Given the description of an element on the screen output the (x, y) to click on. 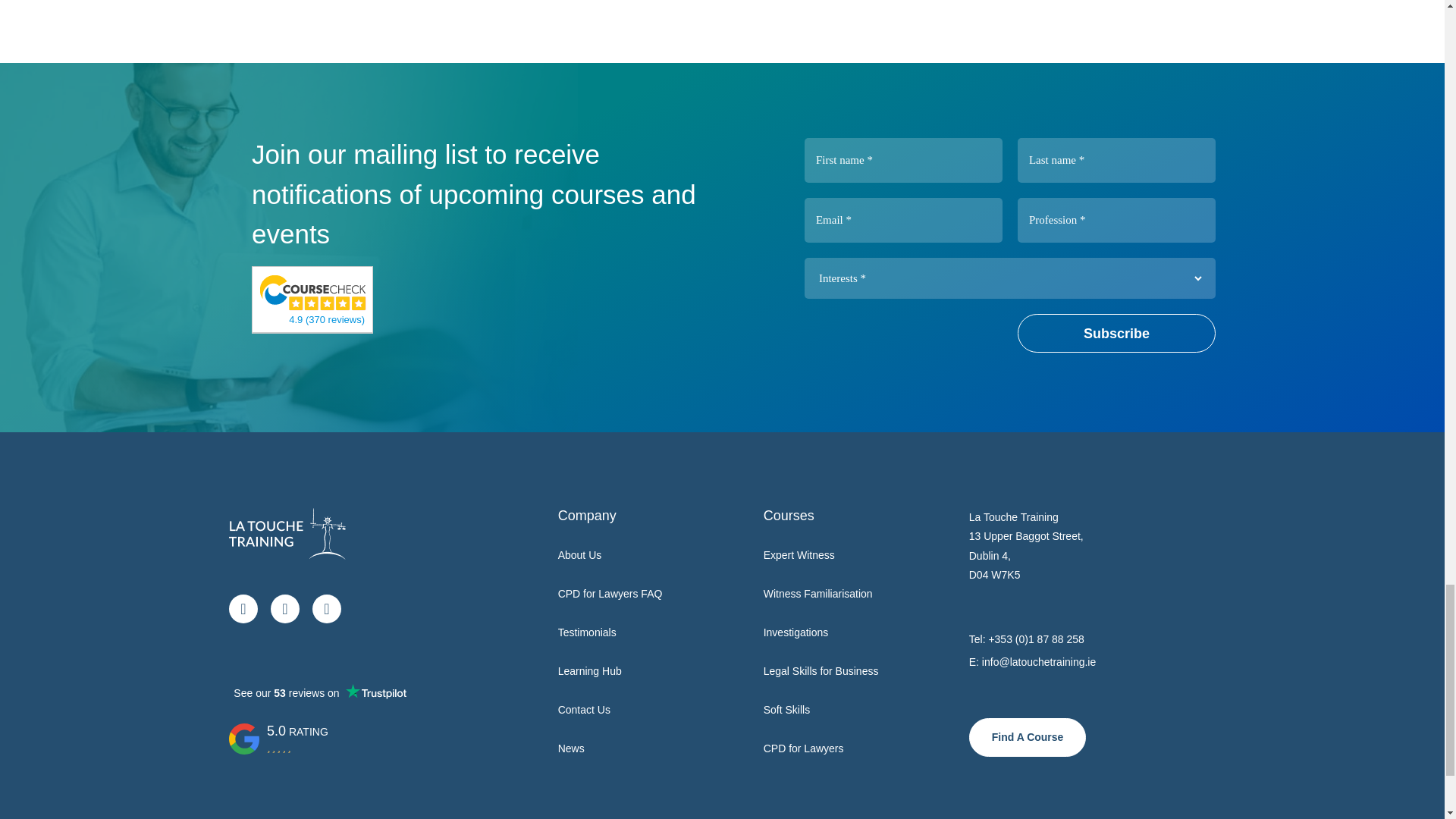
Read reviews about La Touche Training (313, 291)
Subscribe (1116, 332)
Read reviews about La Touche Training (326, 319)
Customer reviews powered by Trustpilot (319, 692)
